Given the description of an element on the screen output the (x, y) to click on. 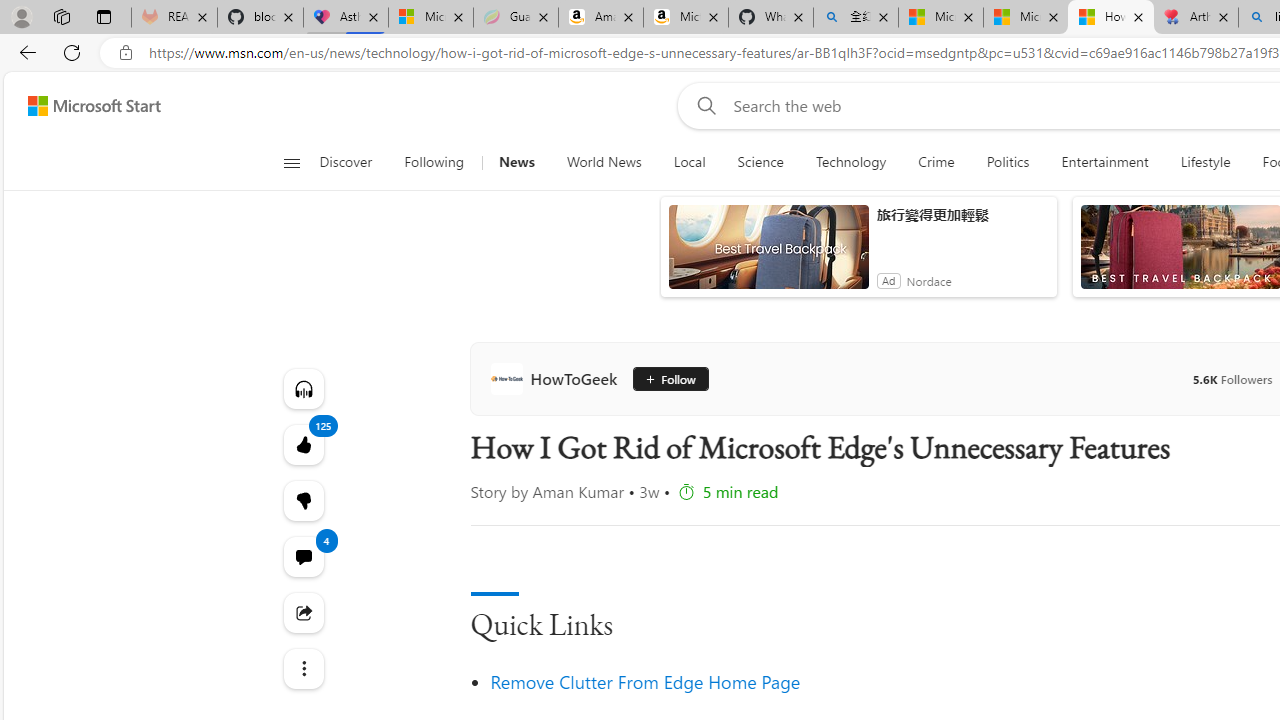
Skip to footer (82, 105)
Entertainment (1105, 162)
anim-content (768, 255)
Remove Clutter From Edge Home Page (645, 682)
Science (760, 162)
World News (603, 162)
Follow (667, 378)
Technology (850, 162)
